Given the description of an element on the screen output the (x, y) to click on. 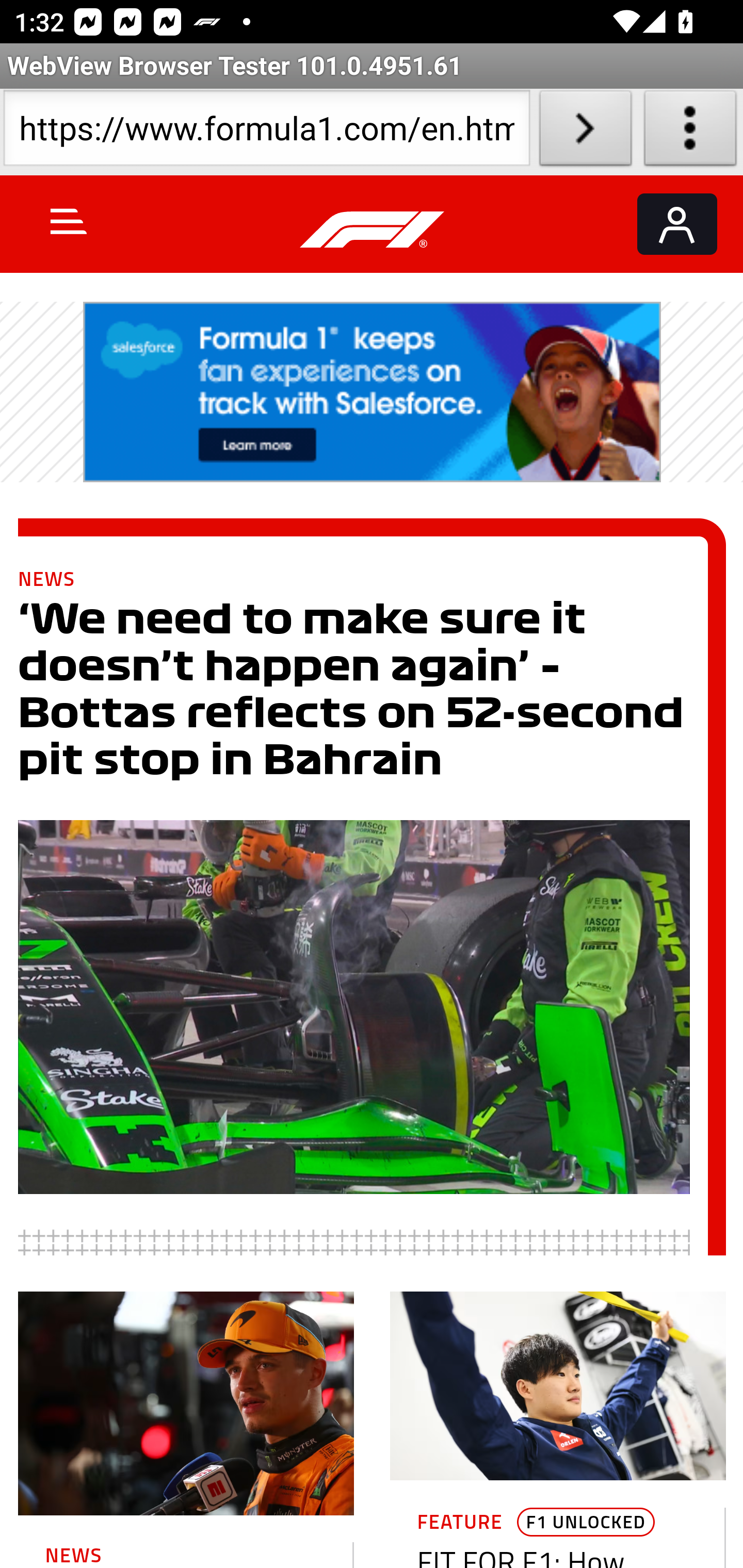
https://www.formula1.com/en.html (266, 132)
Load URL (585, 132)
About WebView (690, 132)
Toggle Menu (68, 220)
Formula 1 (372, 230)
 Login/Register  Login/Register (677, 223)
Advertisement (372, 391)
